Given the description of an element on the screen output the (x, y) to click on. 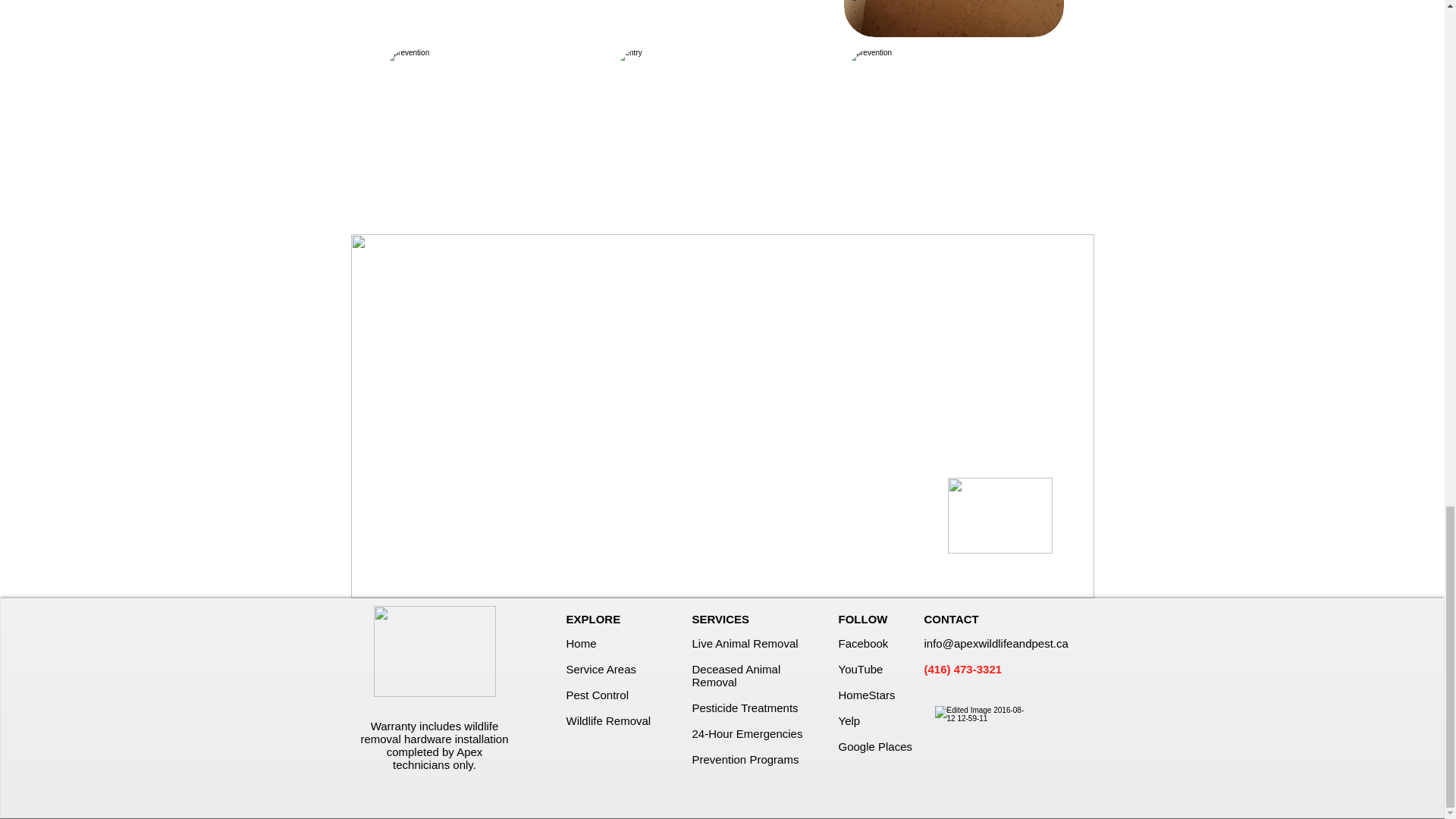
Pest Control (597, 694)
Pesticide Treatments (744, 707)
Yelp (849, 720)
24-Hour Emergencies (746, 733)
Wildlife Removal (608, 720)
Home (580, 643)
Service Areas (601, 668)
Facebook (863, 643)
Google Places (875, 746)
YouTube (860, 668)
Live Animal Removal (744, 643)
Prevention Programs (744, 758)
Deceased Animal Removal (735, 675)
HomeStars (866, 694)
